Given the description of an element on the screen output the (x, y) to click on. 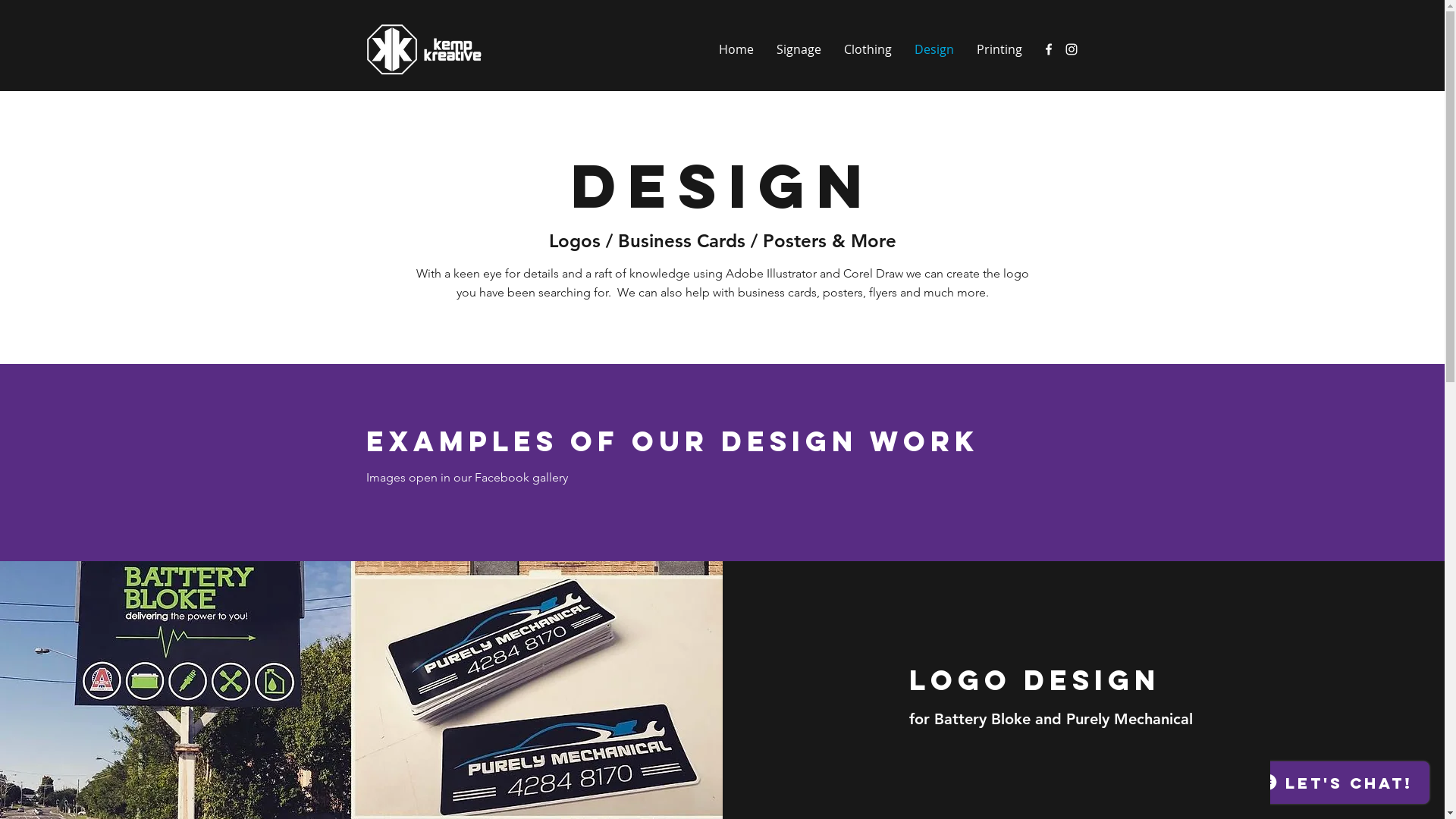
Signage Element type: text (797, 48)
Printing Element type: text (998, 48)
Design Element type: text (933, 48)
Clothing Element type: text (867, 48)
Home Element type: text (735, 48)
